Given the description of an element on the screen output the (x, y) to click on. 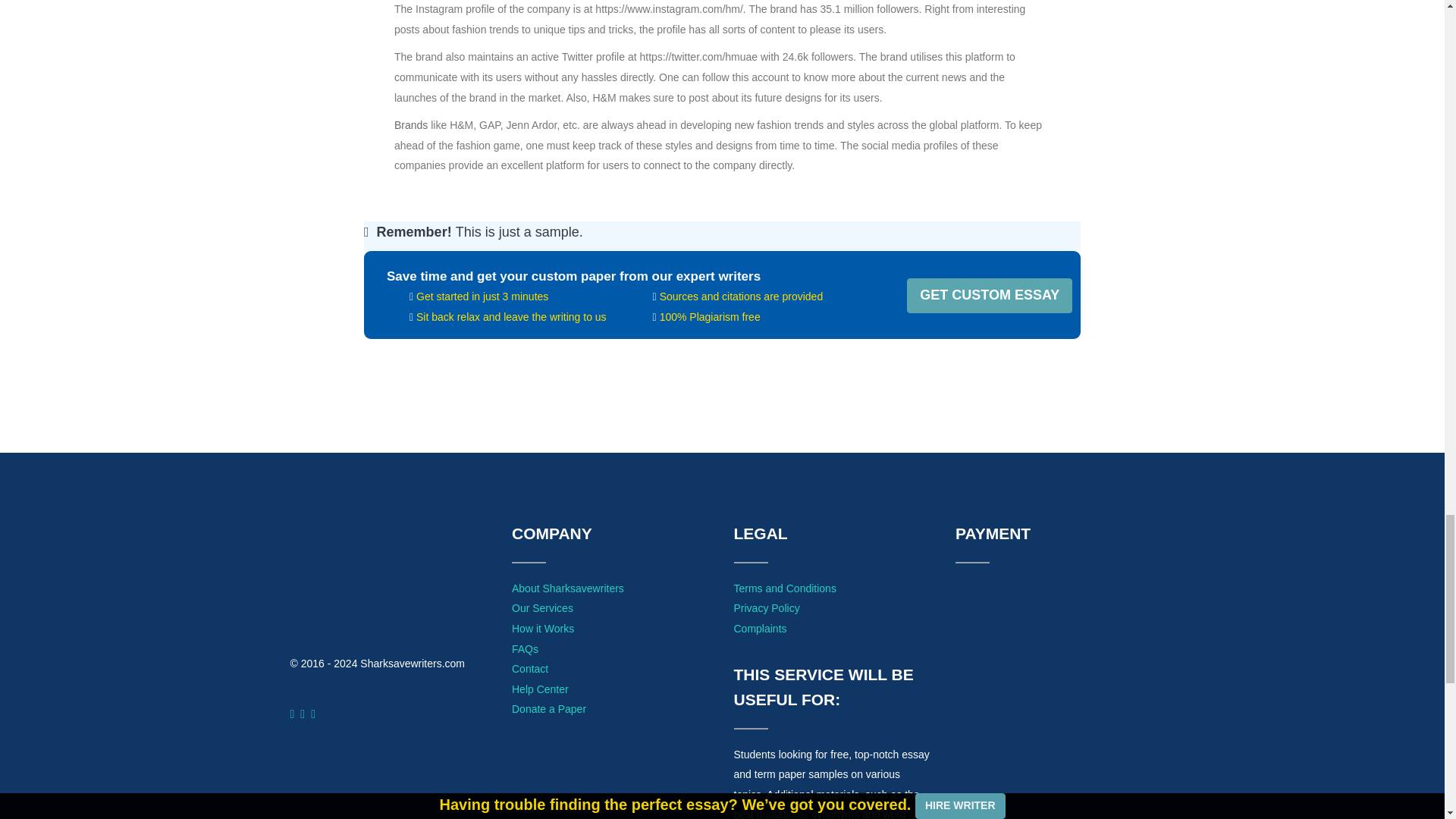
Our Services (542, 607)
Help Center (540, 689)
How it Works (542, 628)
Privacy Policy (766, 607)
Terms and Conditions (784, 588)
GET CUSTOM ESSAY (989, 295)
Brands (411, 124)
About Sharksavewriters (568, 588)
Donate a Paper (549, 708)
Complaints (760, 628)
Contact (530, 668)
FAQs (525, 648)
